Given the description of an element on the screen output the (x, y) to click on. 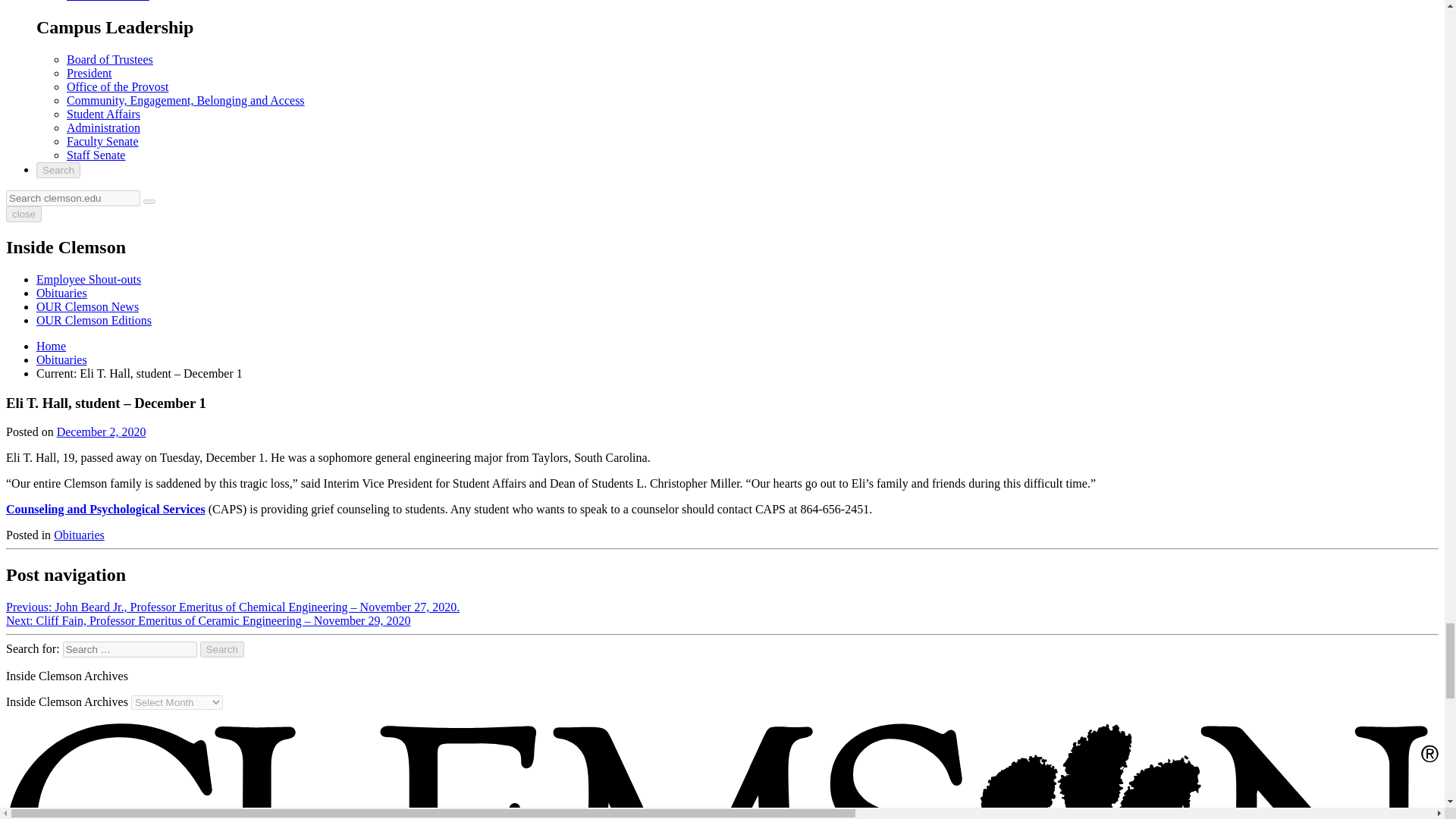
Search (222, 649)
Search (222, 649)
